Given the description of an element on the screen output the (x, y) to click on. 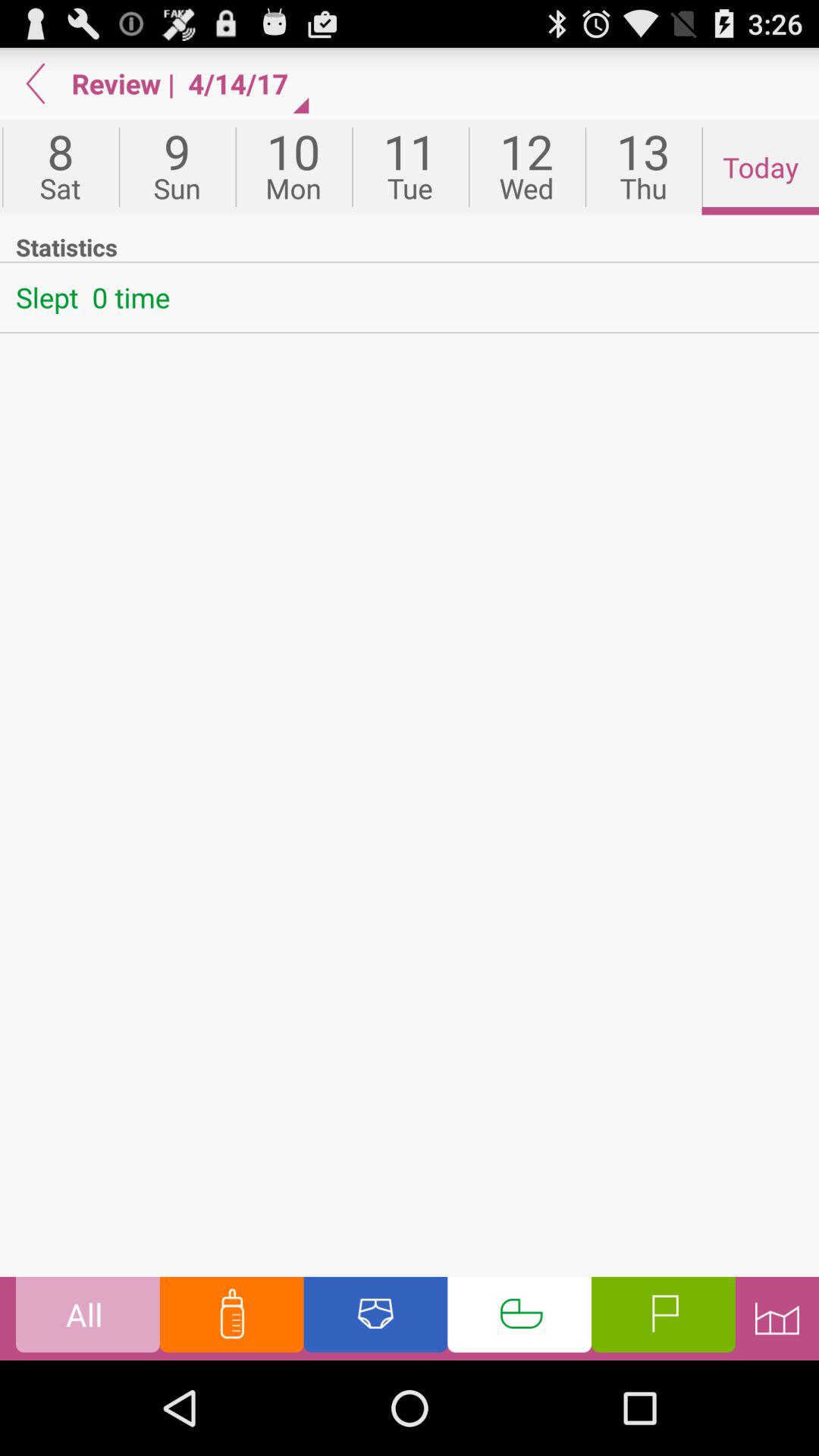
flip until sun button (176, 166)
